Given the description of an element on the screen output the (x, y) to click on. 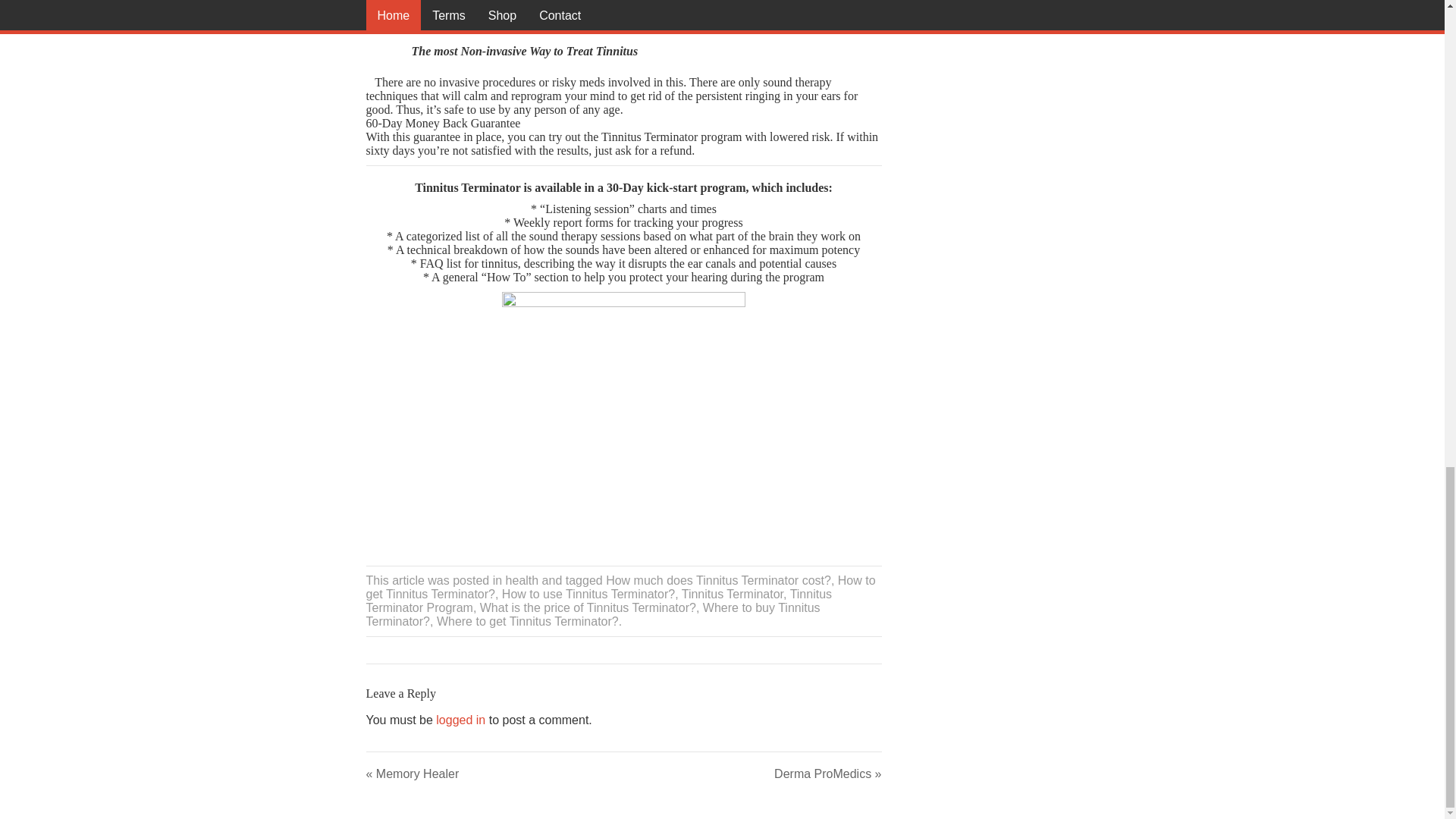
How to get Tinnitus Terminator? (620, 587)
Tinnitus Terminator Program (598, 601)
How much does Tinnitus Terminator cost? (718, 580)
What is the price of Tinnitus Terminator? (587, 607)
Where to buy Tinnitus Terminator? (592, 614)
logged in (459, 719)
health (521, 580)
How to use Tinnitus Terminator? (588, 594)
Where to get Tinnitus Terminator? (527, 621)
Tinnitus Terminator (732, 594)
